Given the description of an element on the screen output the (x, y) to click on. 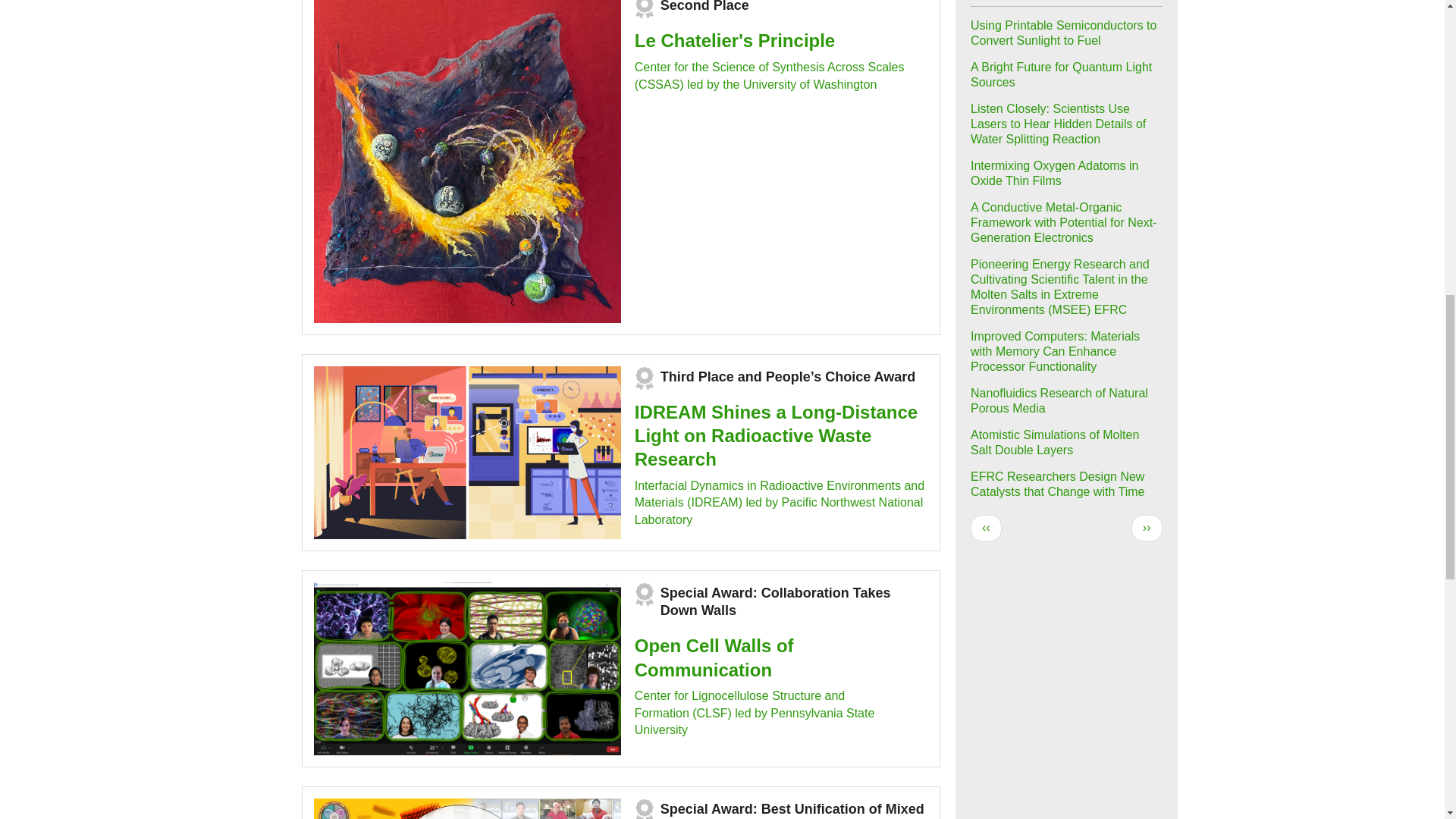
Go to previous page (986, 528)
Go to next page (1146, 528)
